Given the description of an element on the screen output the (x, y) to click on. 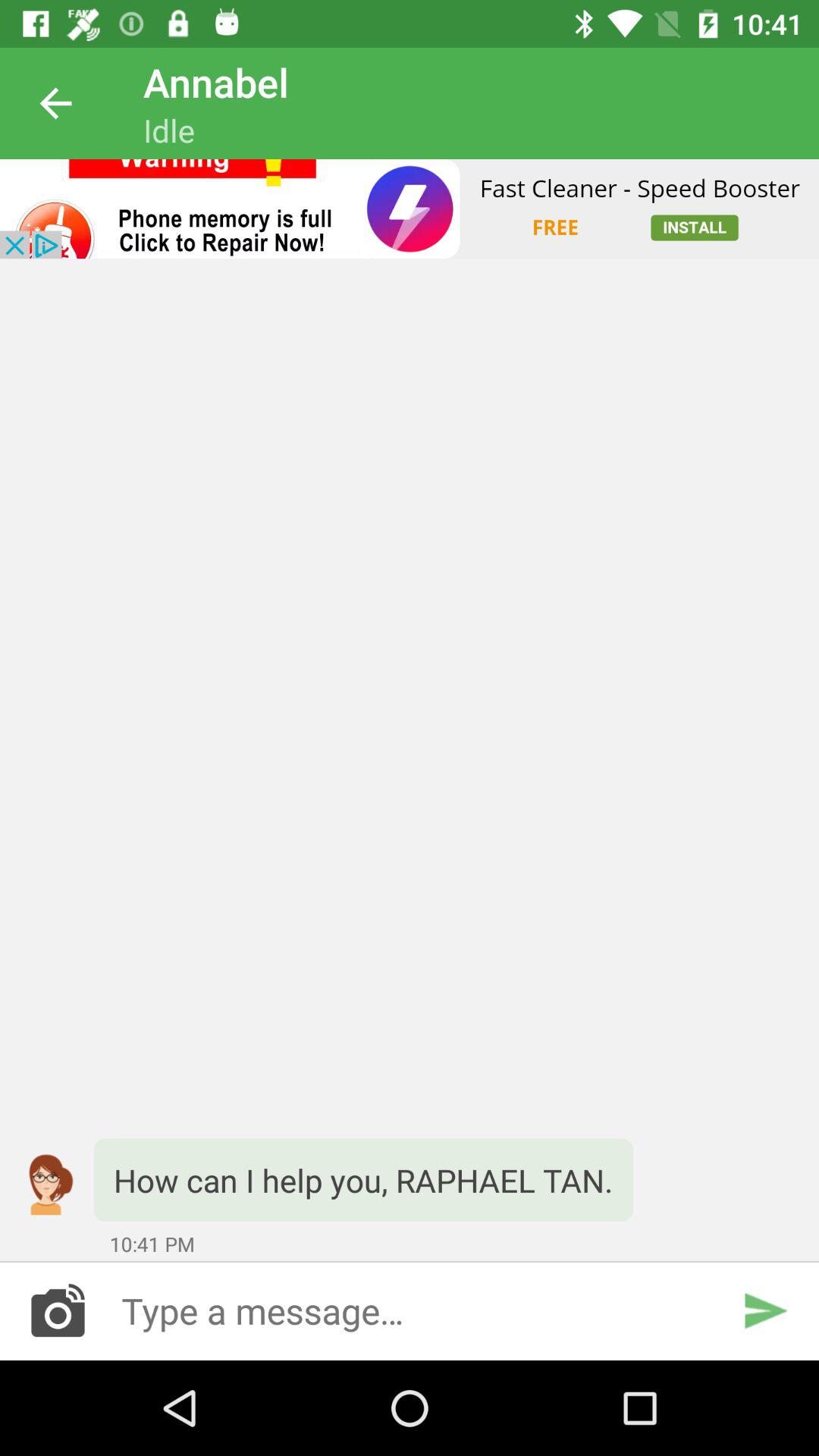
camera (57, 1310)
